Given the description of an element on the screen output the (x, y) to click on. 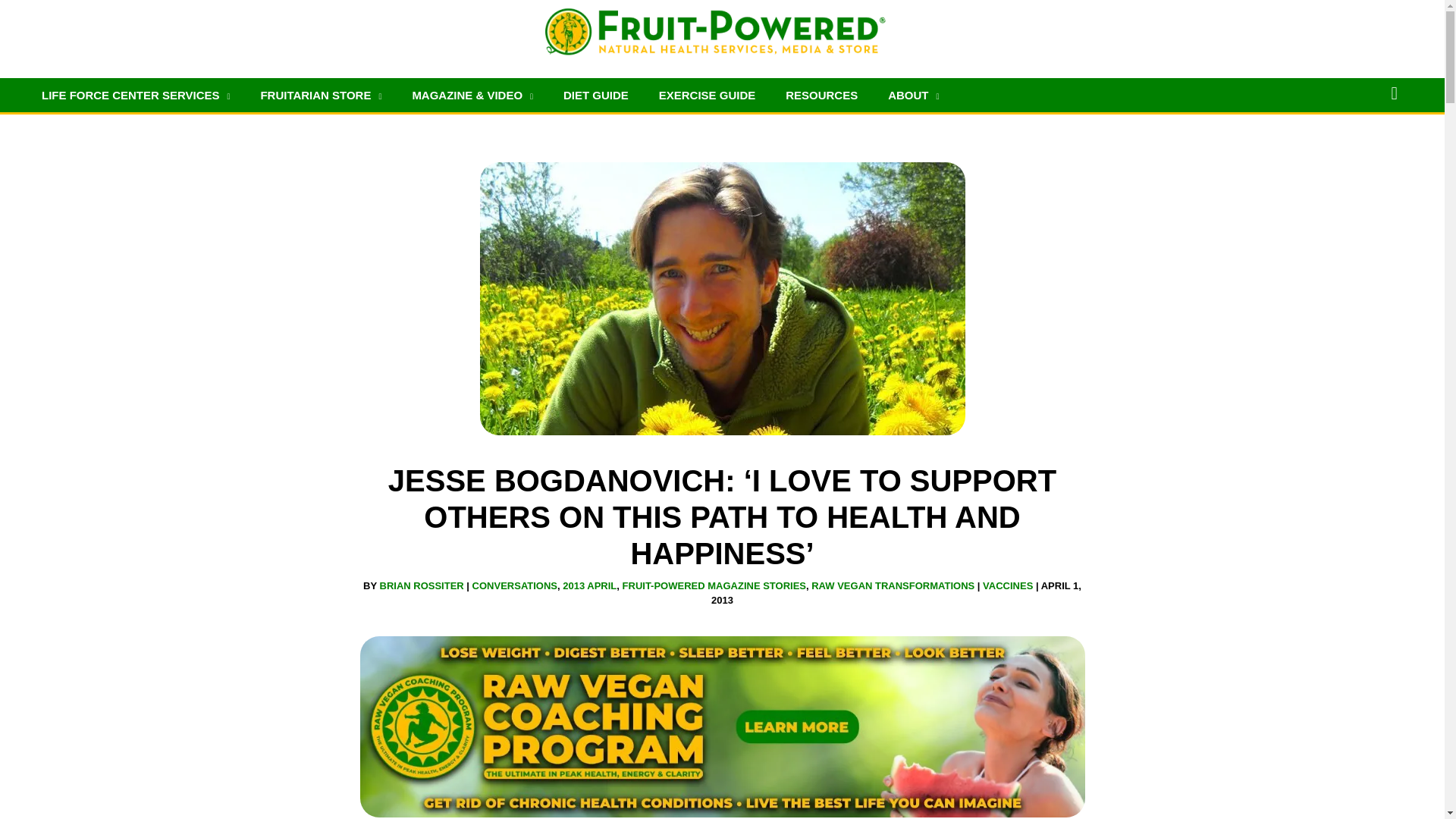
View all posts by Brian Rossiter (421, 585)
